Given the description of an element on the screen output the (x, y) to click on. 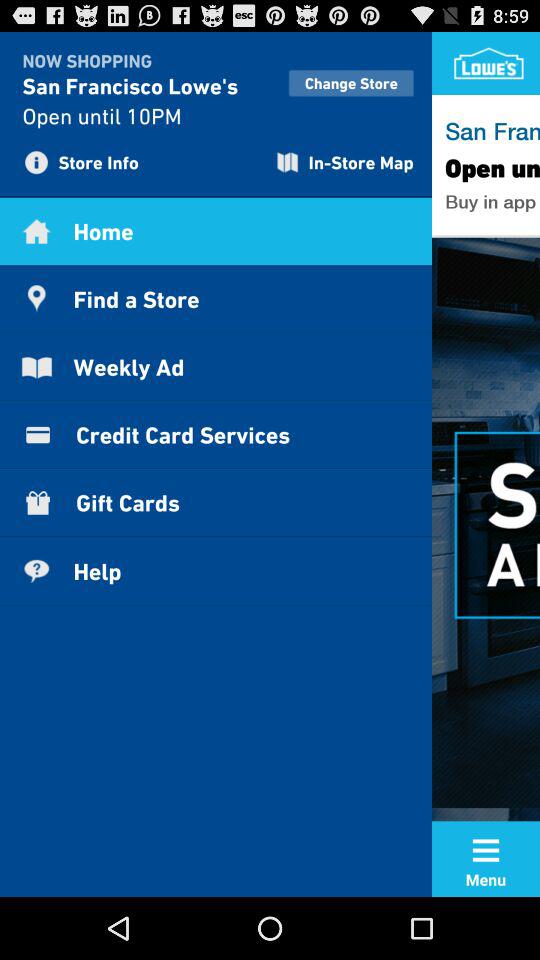
select information symbol (41, 161)
select change store (350, 82)
